Given the description of an element on the screen output the (x, y) to click on. 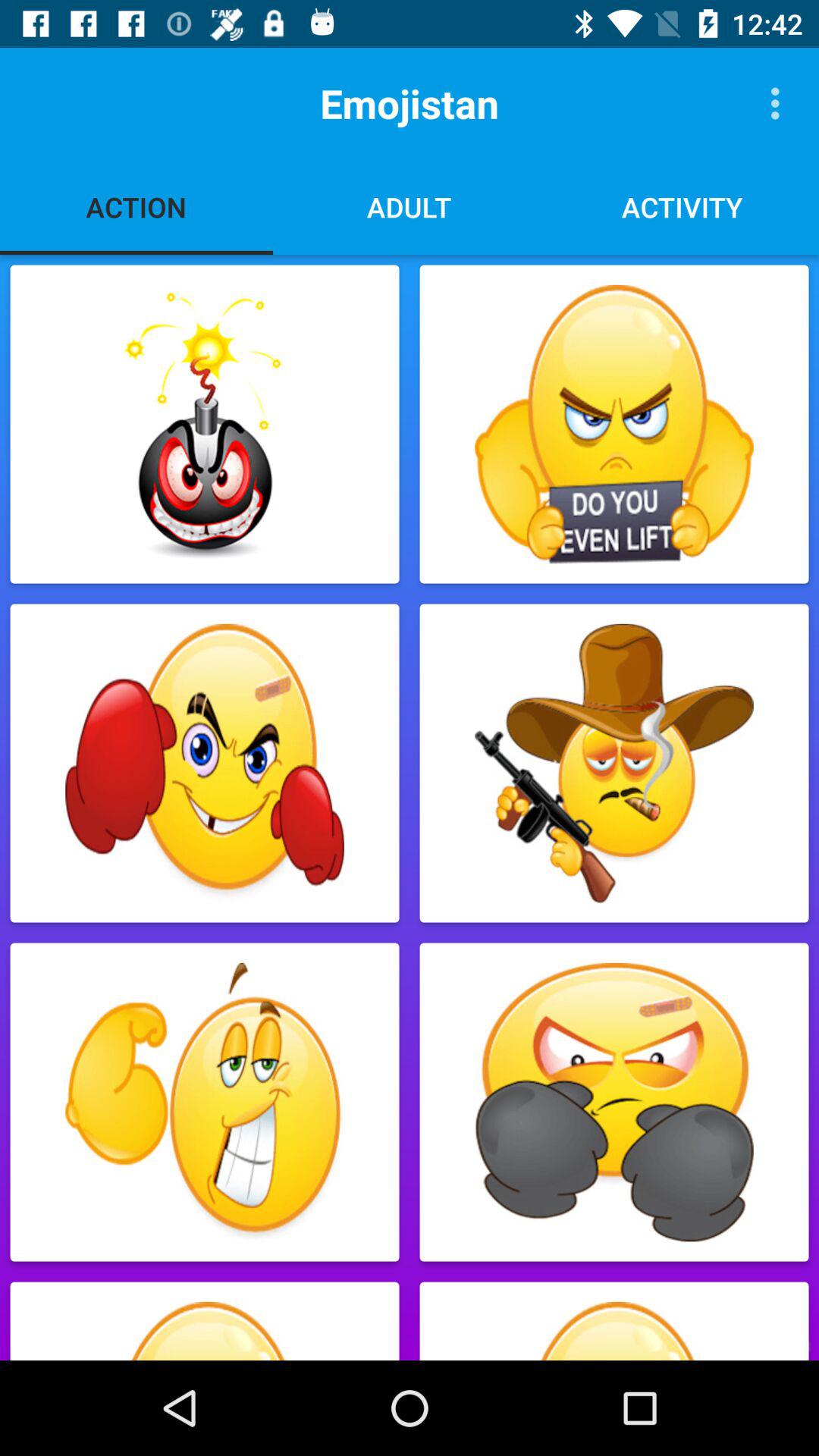
launch icon above activity icon (779, 103)
